Given the description of an element on the screen output the (x, y) to click on. 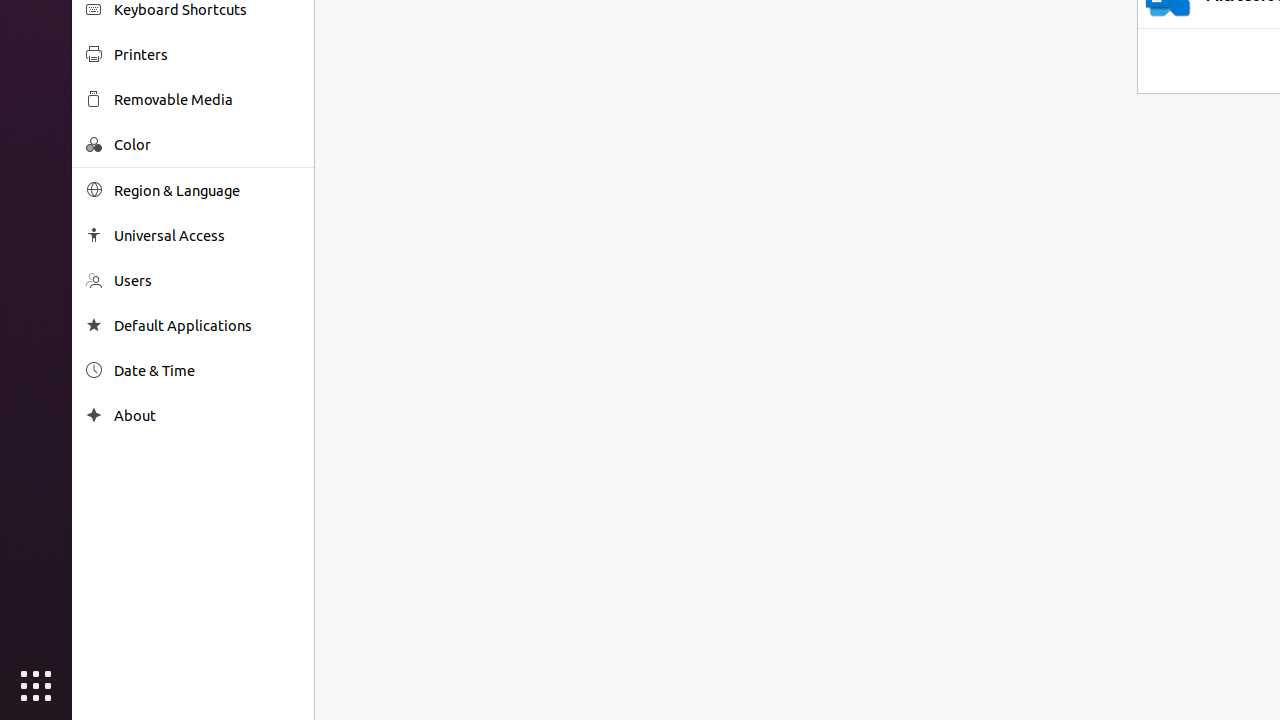
Default Applications Element type: label (207, 325)
About Element type: icon (94, 415)
